Given the description of an element on the screen output the (x, y) to click on. 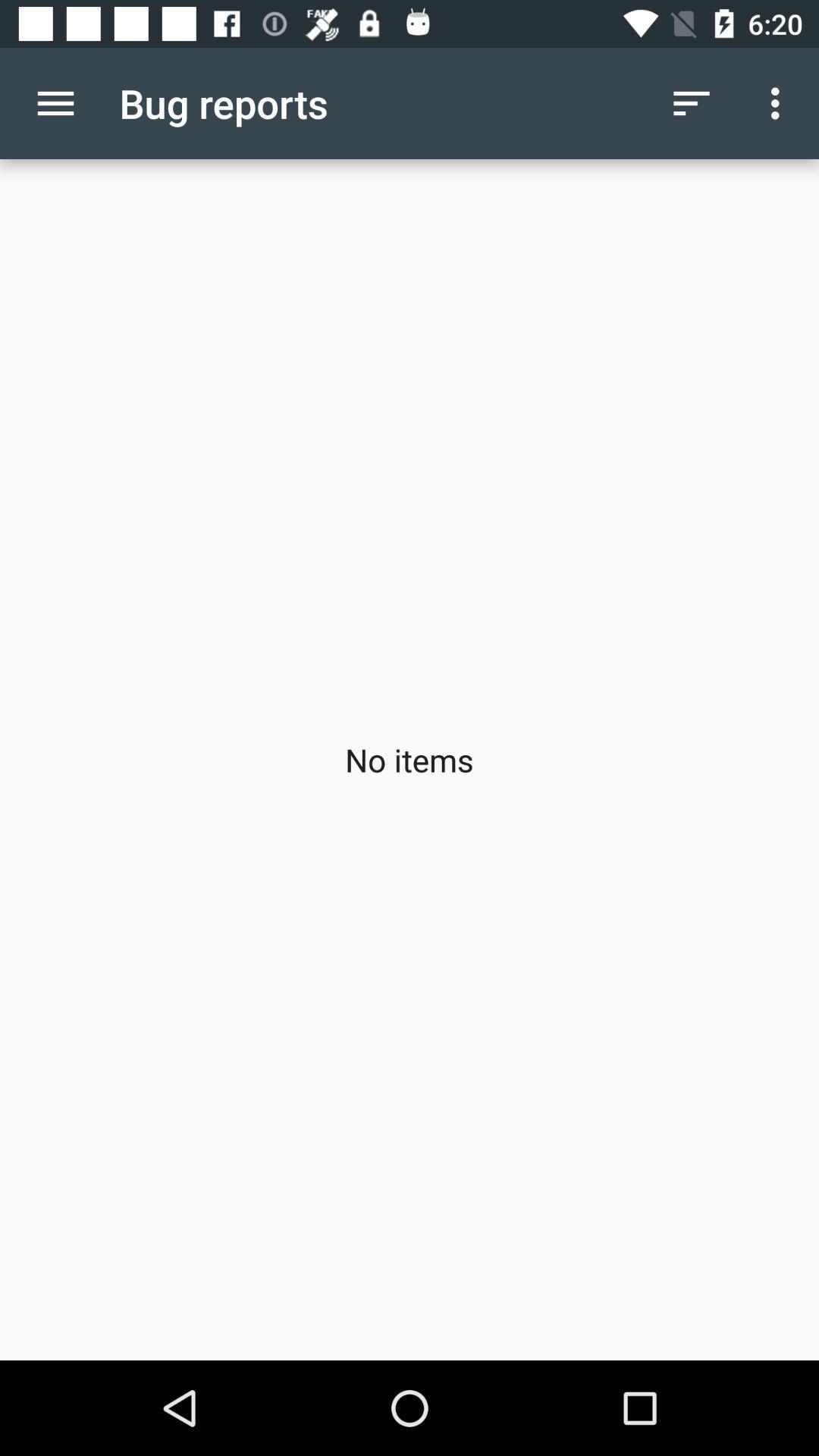
tap item above no items (55, 103)
